Given the description of an element on the screen output the (x, y) to click on. 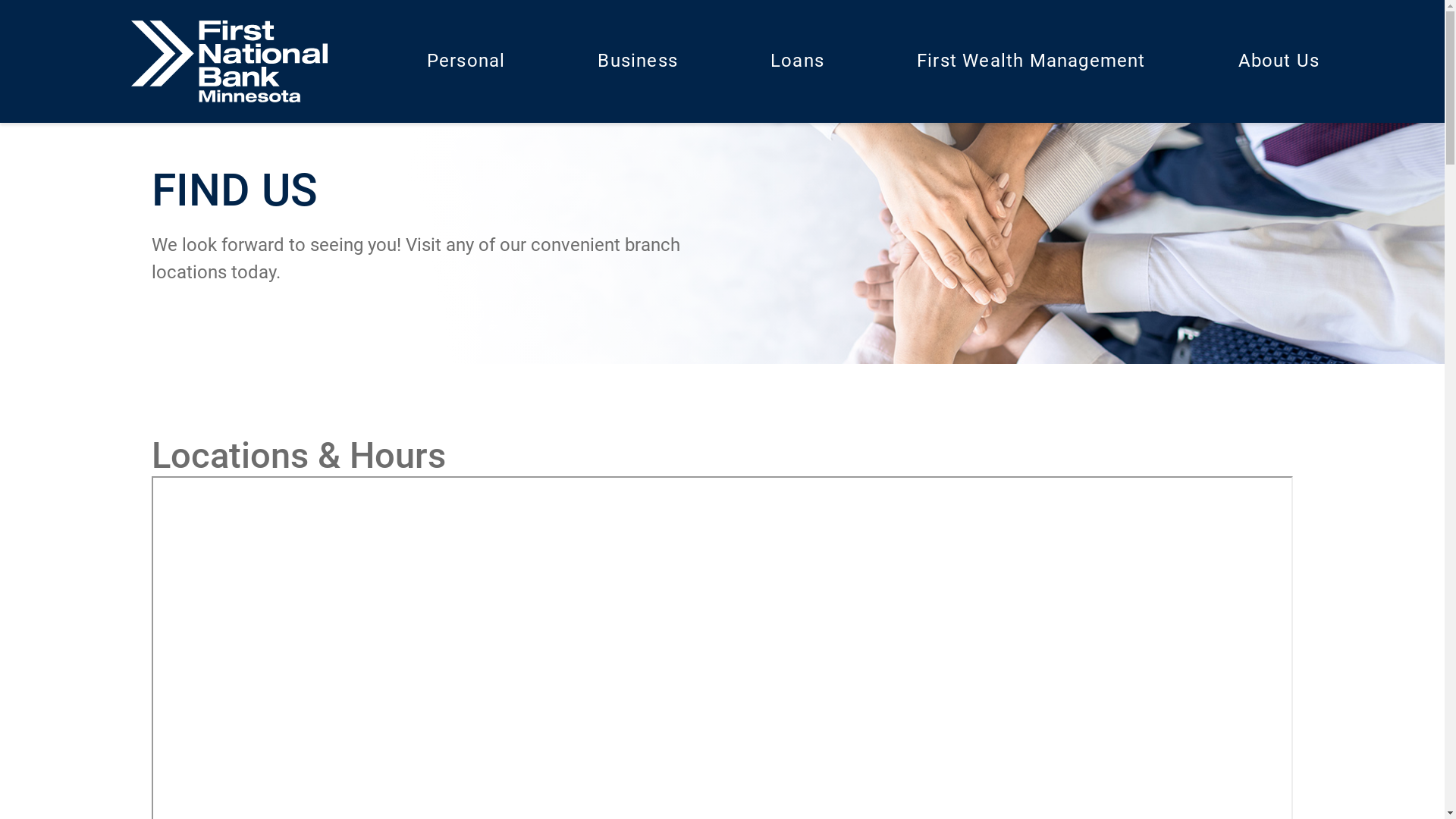
Business Element type: text (637, 61)
Personal Element type: text (466, 61)
Loans Element type: text (796, 61)
About Us Element type: text (1278, 61)
First Wealth Management Element type: text (1031, 61)
